Given the description of an element on the screen output the (x, y) to click on. 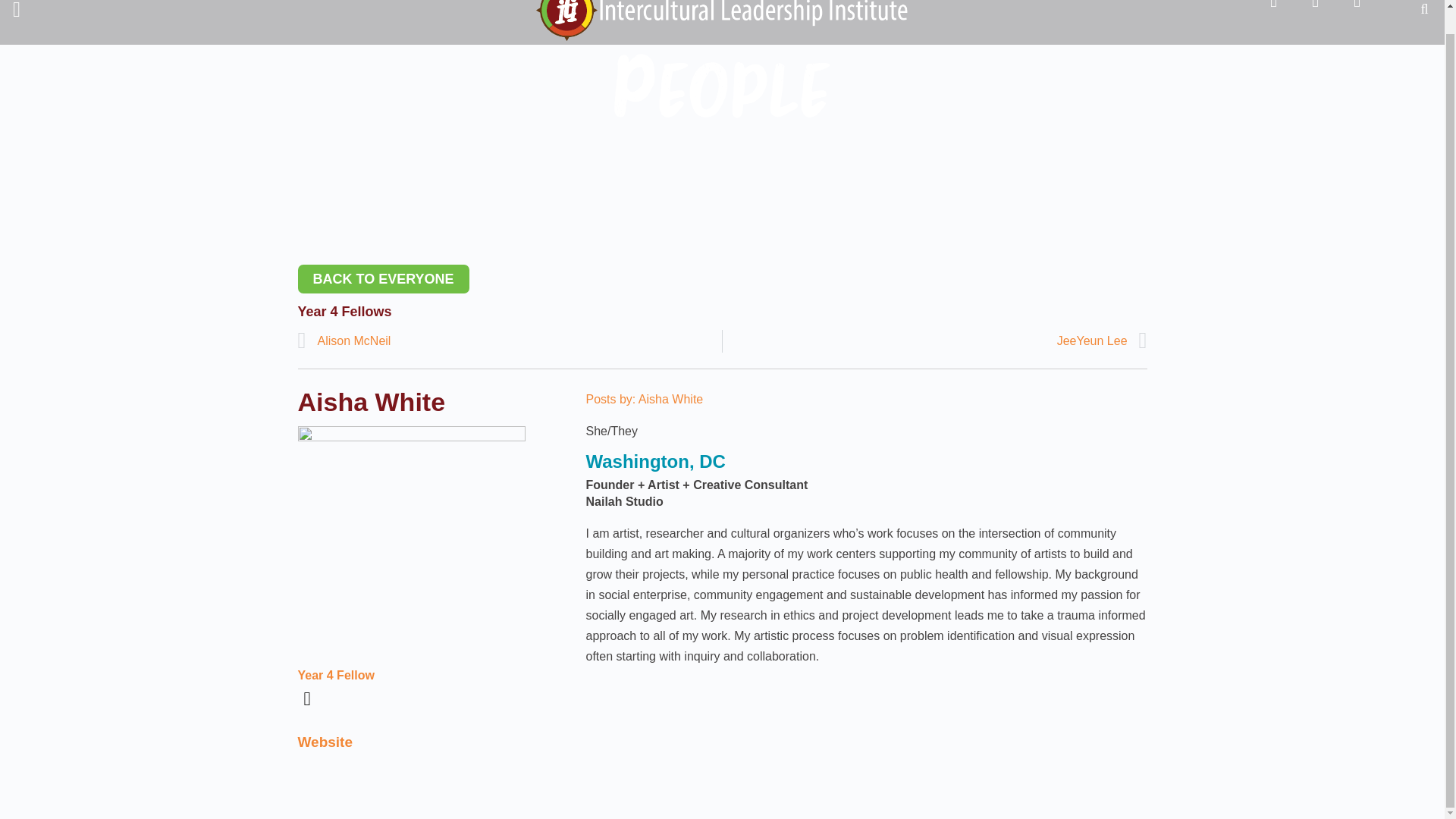
JeeYeun Lee (934, 341)
Alison McNeil (509, 341)
BACK TO EVERYONE (382, 278)
Posts by: Aisha White (644, 399)
Website (324, 741)
